Given the description of an element on the screen output the (x, y) to click on. 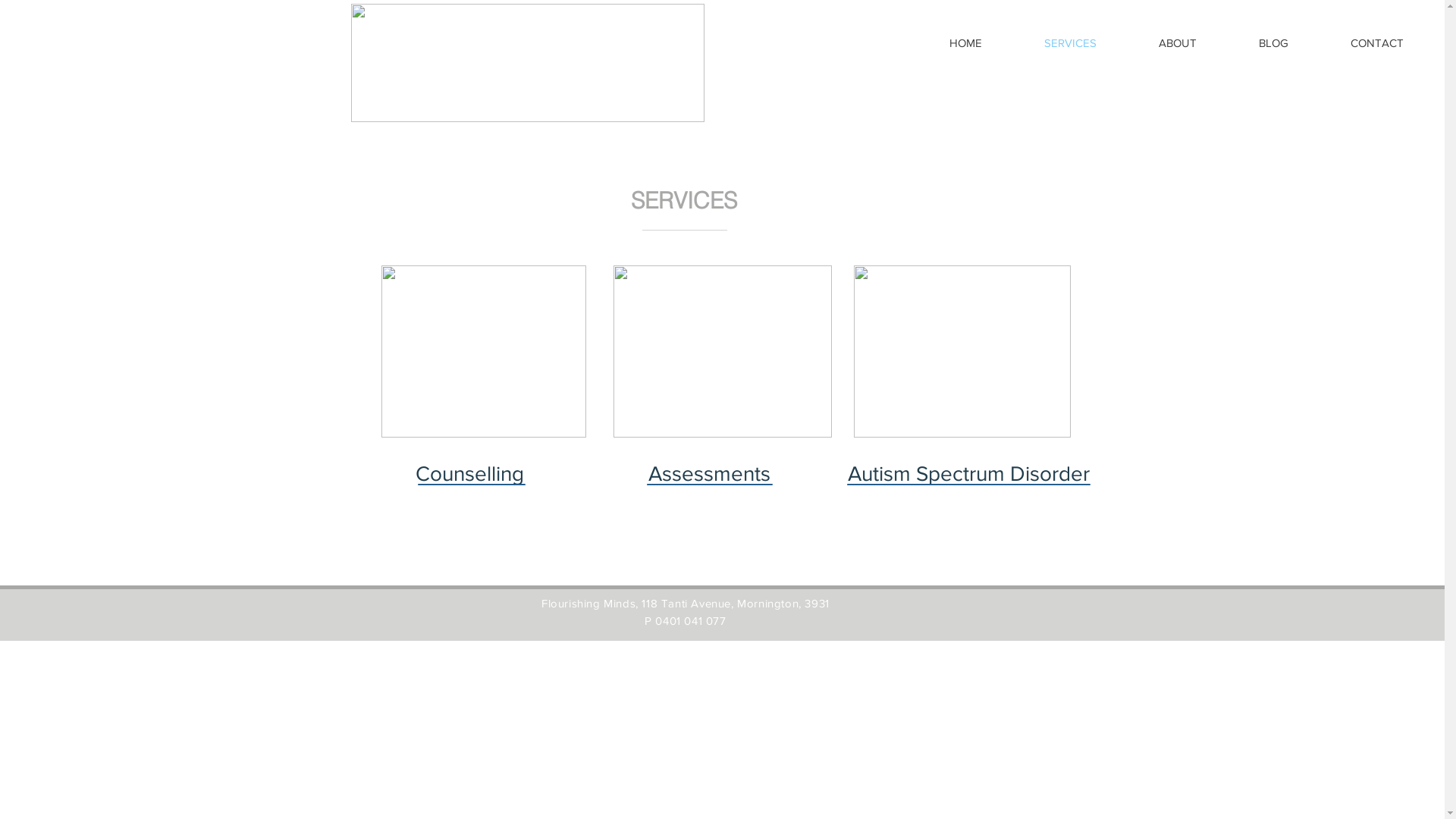
Assessments Element type: text (708, 473)
SERVICES Element type: text (1070, 42)
Autism Spectrum Disorder Element type: text (967, 473)
CONTACT Element type: text (1376, 42)
In the Classroom Element type: hover (721, 351)
Counselling Element type: text (468, 473)
ABOUT Element type: text (1177, 42)
BLOG Element type: text (1273, 42)
High School Student..jpg Element type: hover (482, 351)
HOME Element type: text (965, 42)
Child In Speech Therapy Element type: hover (961, 351)
